Given the description of an element on the screen output the (x, y) to click on. 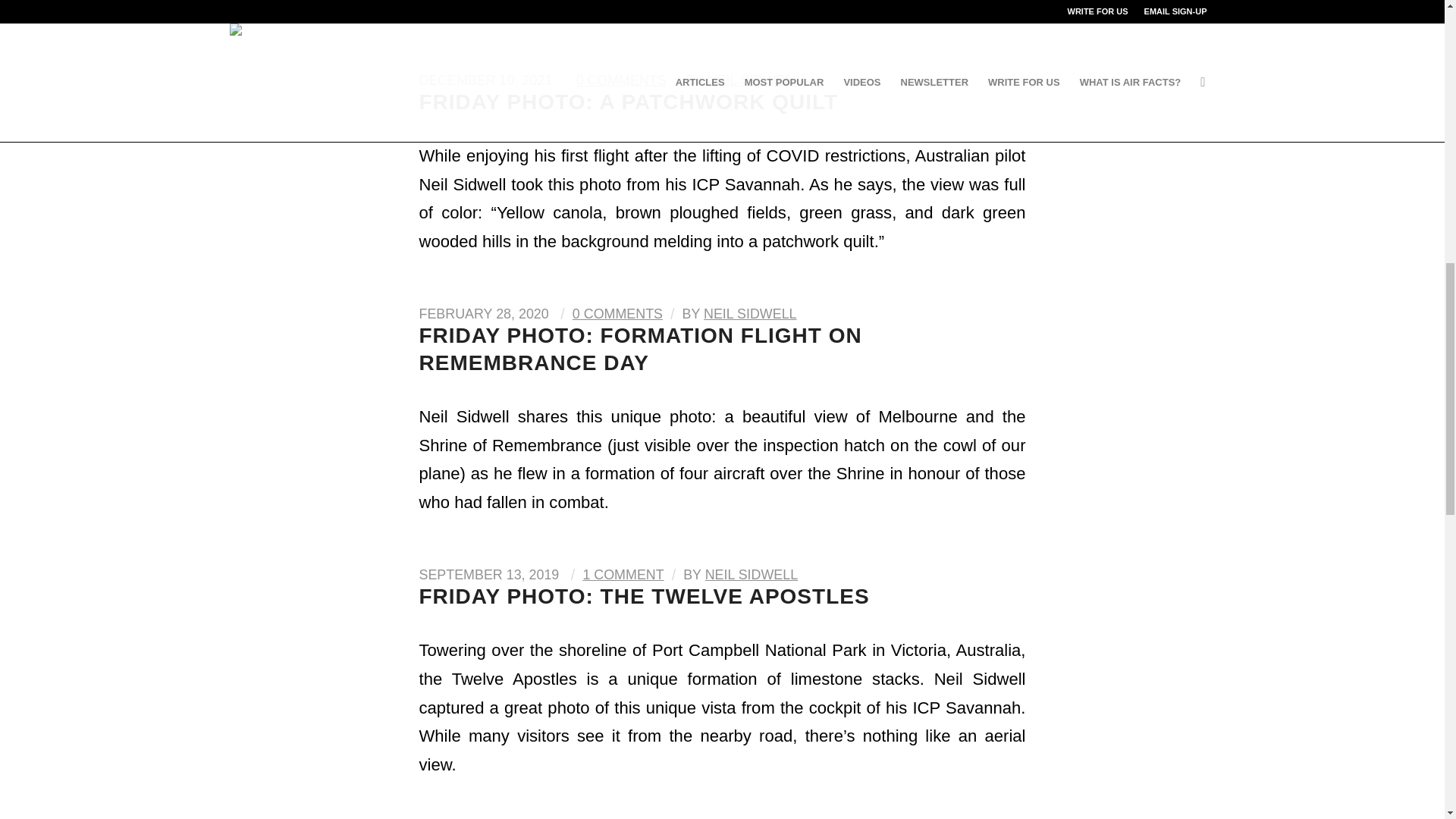
FRIDAY PHOTO: FORMATION FLIGHT ON REMEMBRANCE DAY (640, 348)
FRIDAY PHOTO: A PATCHWORK QUILT (628, 101)
NEIL SIDWELL (753, 79)
0 COMMENTS (620, 79)
